Given the description of an element on the screen output the (x, y) to click on. 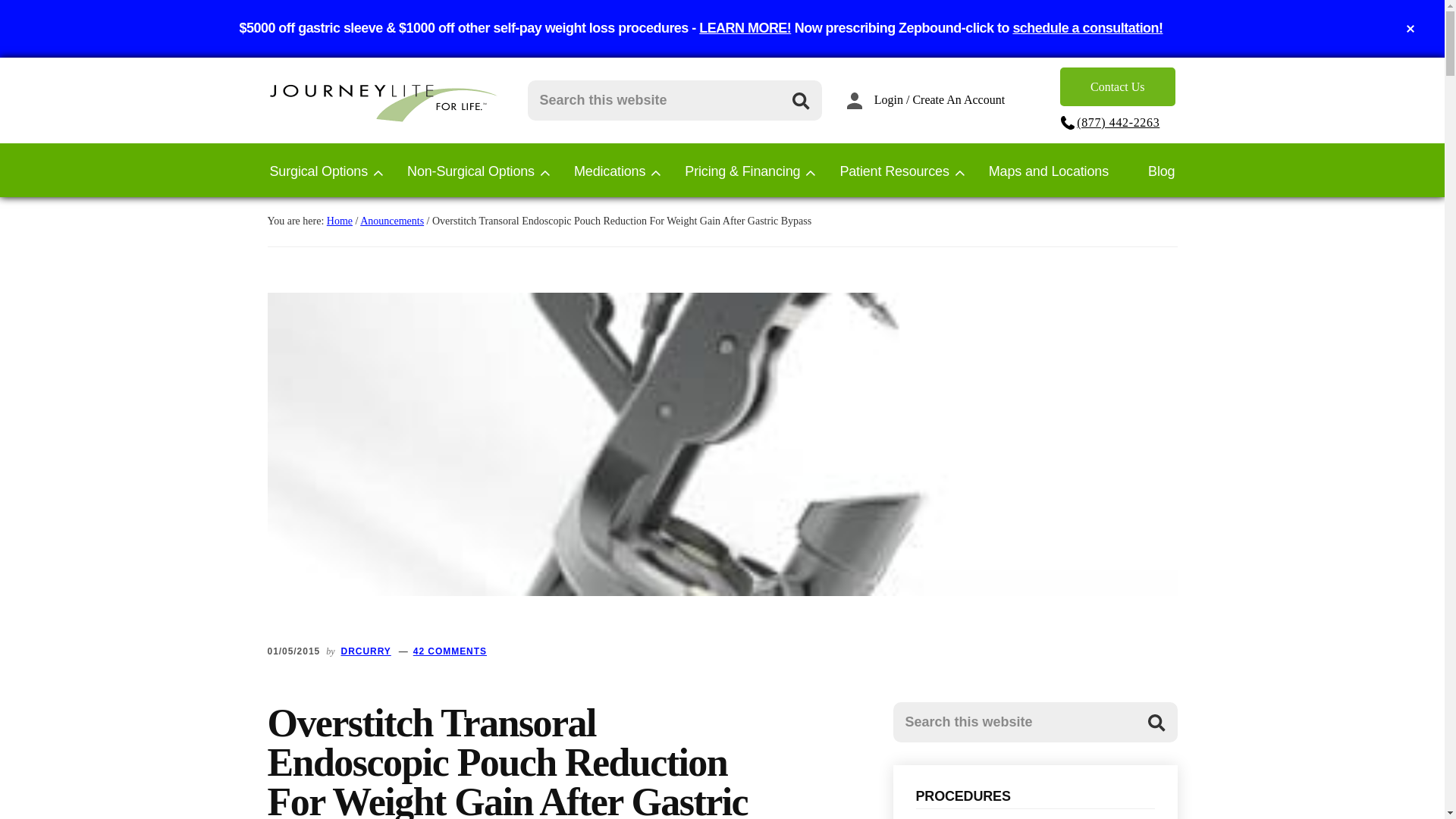
Medications (609, 168)
schedule a consultation! (1086, 28)
Patient Resources (894, 168)
Contact Us (1116, 86)
Non-Surgical Options (470, 168)
Surgical Options (318, 168)
LEARN MORE! (744, 28)
